Given the description of an element on the screen output the (x, y) to click on. 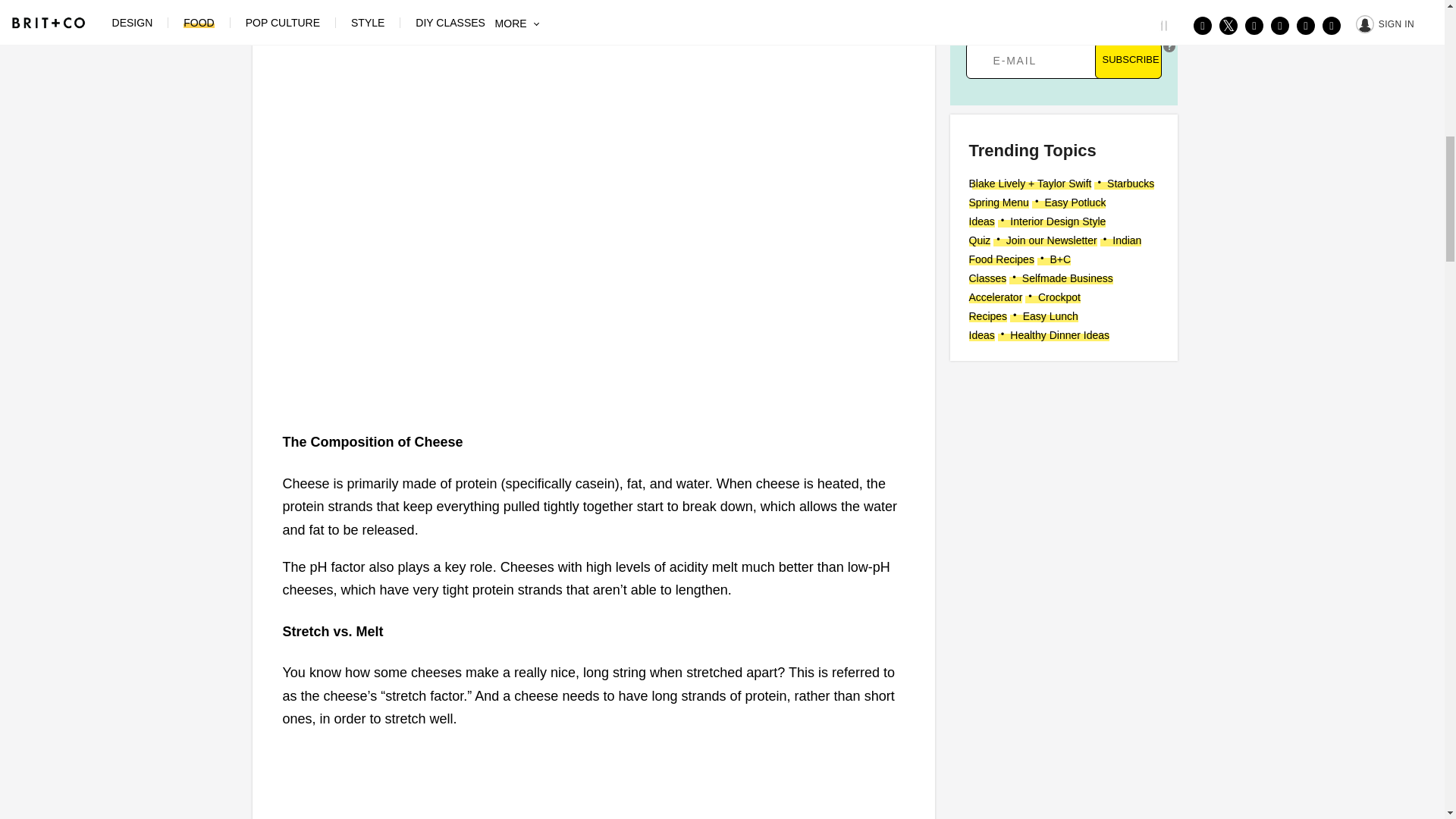
3rd party ad content (592, 781)
